Given the description of an element on the screen output the (x, y) to click on. 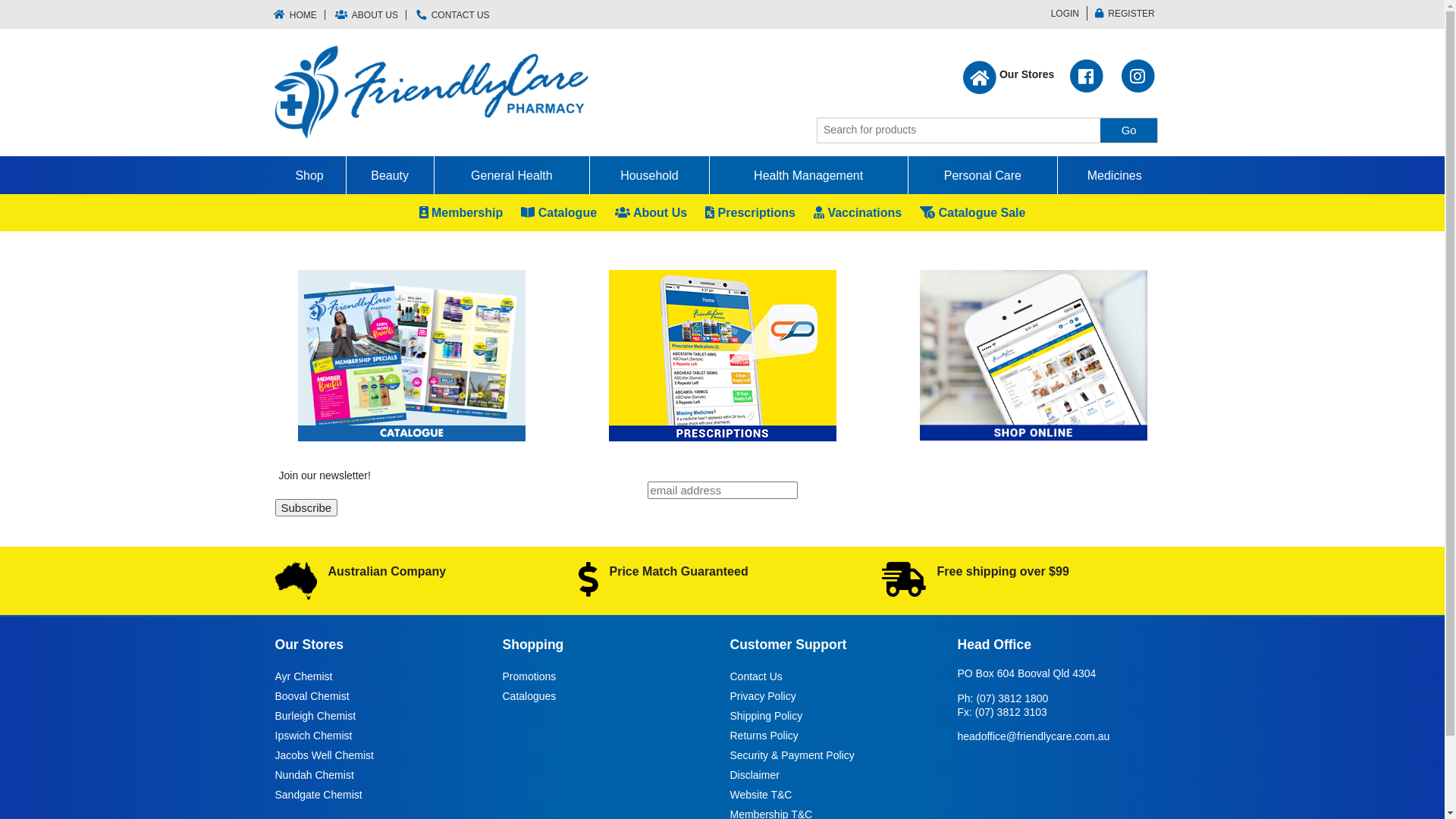
REGISTER Element type: text (1124, 13)
Website T&C Element type: text (760, 794)
Security & Payment Policy Element type: text (791, 755)
Go Element type: text (1128, 130)
Personal Care Element type: text (982, 175)
Membership Element type: text (460, 212)
Ayr Chemist Element type: text (303, 676)
Contact Us Element type: text (755, 676)
Vaccinations Element type: text (857, 212)
Catalogue Sale Element type: text (972, 212)
CONTACT US Element type: text (452, 14)
Disclaimer Element type: text (753, 774)
Booval Chemist Element type: text (311, 696)
Prescriptions Element type: text (750, 212)
Returns Policy Element type: text (763, 735)
headoffice@friendlycare.com.au Element type: text (1033, 736)
Jacobs Well Chemist Element type: text (323, 755)
Shipping Policy Element type: text (765, 715)
Health Management Element type: text (808, 175)
Privacy Policy Element type: text (762, 696)
Shop Element type: text (309, 175)
Beauty Element type: text (389, 175)
Catalogues Element type: text (528, 696)
About Us Element type: text (651, 212)
Ph: (07) 3812 1800 Element type: text (1002, 698)
Nundah Chemist Element type: text (313, 774)
General Health Element type: text (511, 175)
Household Element type: text (648, 175)
Promotions Element type: text (528, 676)
Medicines Element type: text (1113, 175)
Subscribe Element type: text (305, 507)
HOME Element type: text (298, 14)
Our Stores Element type: text (1008, 79)
Ipswich Chemist Element type: text (312, 735)
Burleigh Chemist Element type: text (314, 715)
LOGIN Element type: text (1062, 13)
Catalogue Element type: text (558, 212)
Sandgate Chemist Element type: text (317, 794)
ABOUT US Element type: text (366, 14)
